Given the description of an element on the screen output the (x, y) to click on. 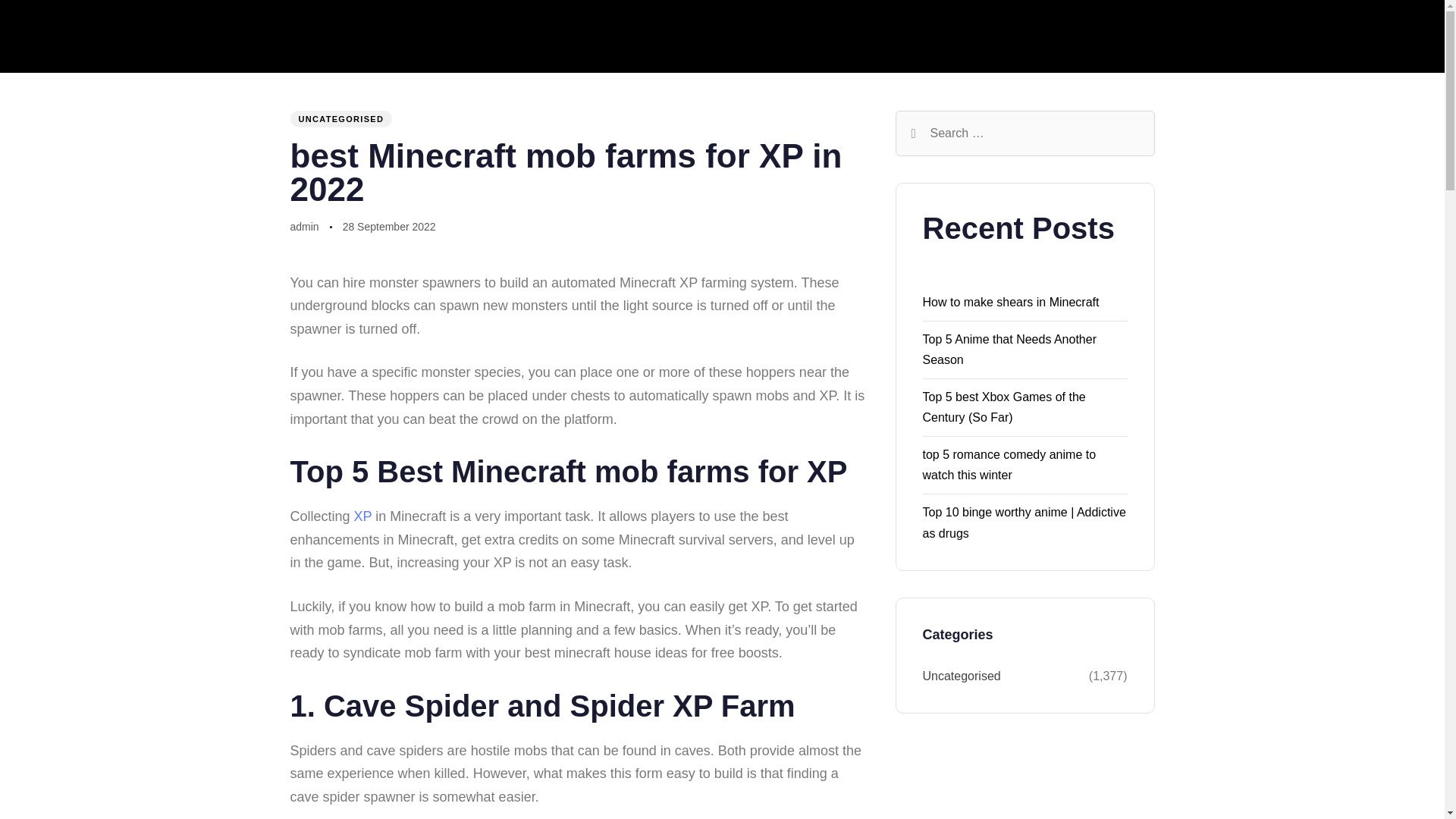
top 5 romance comedy anime to watch this winter (1008, 464)
28 September 2022 (388, 227)
UNCATEGORISED (340, 118)
Posts by admin (303, 226)
admin (303, 226)
How to make shears in Minecraft (1010, 301)
Top 5 Anime that Needs Another Season (1008, 349)
XP (362, 516)
Uncategorised (1004, 675)
